Given the description of an element on the screen output the (x, y) to click on. 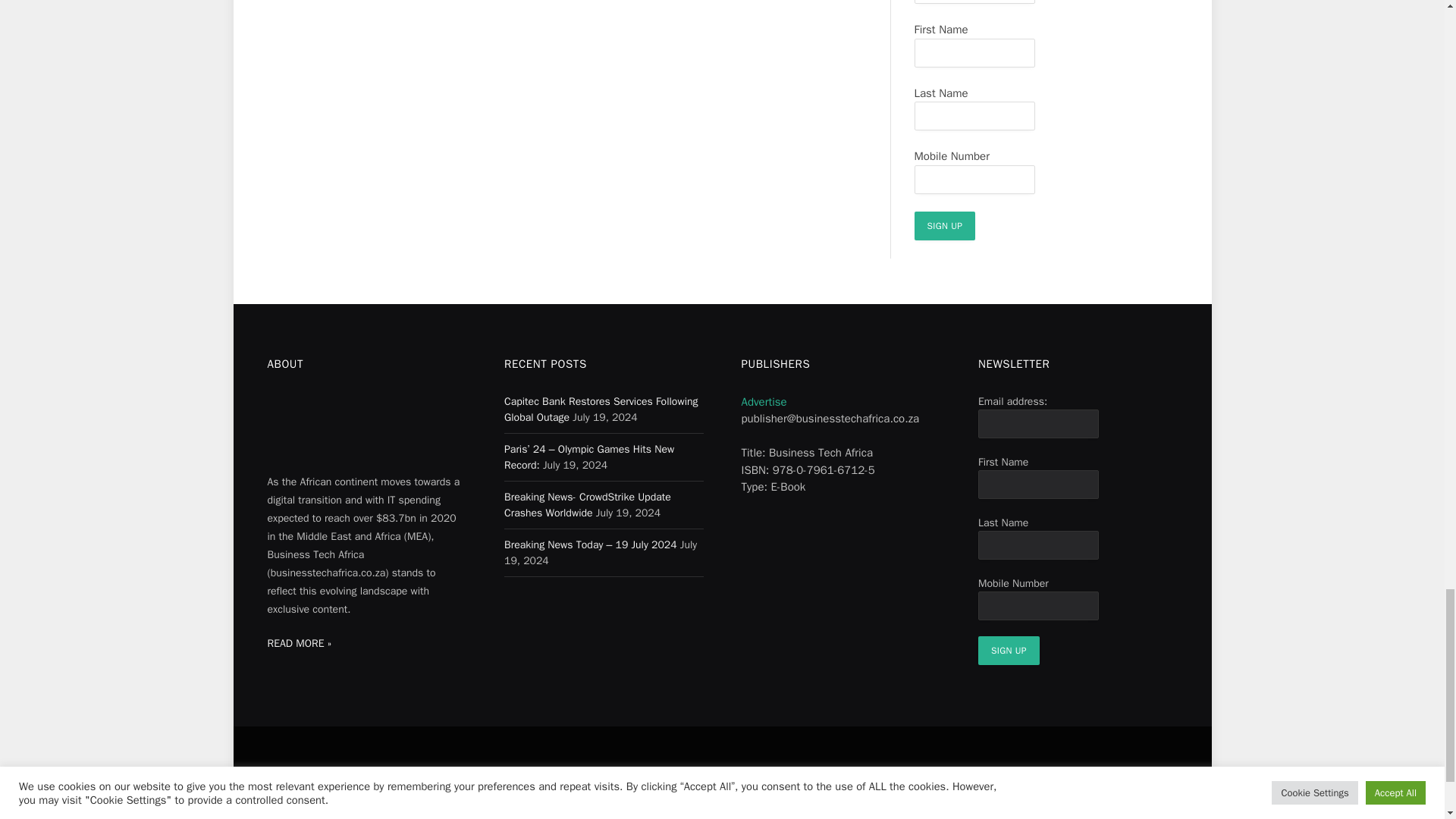
Sign up (944, 225)
Sign up (1008, 650)
